Given the description of an element on the screen output the (x, y) to click on. 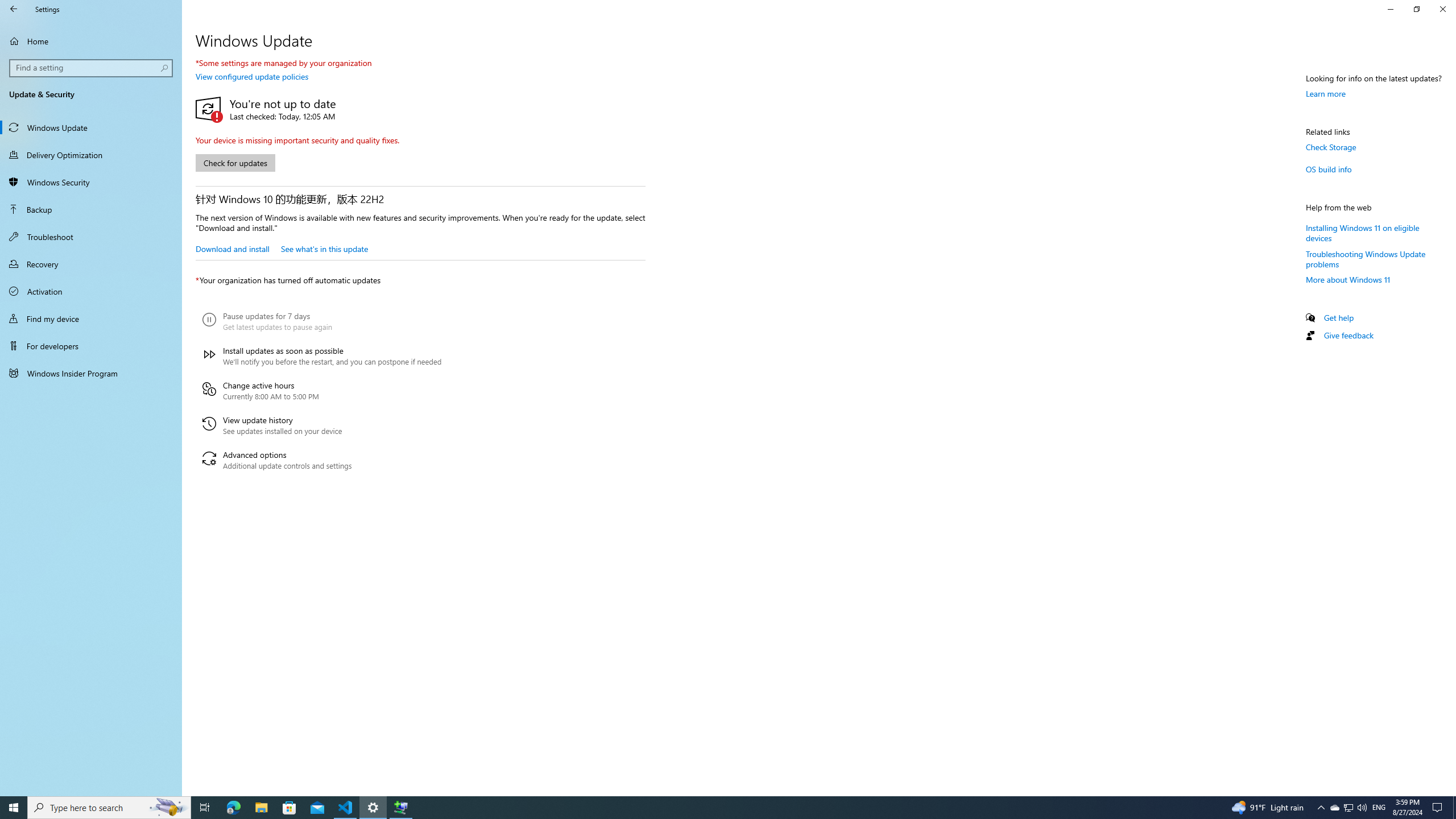
Pause updates for 7 days (321, 321)
Close Settings (1442, 9)
Change active hours (321, 390)
Installing Windows 11 on eligible devices (1362, 232)
Give feedback (1348, 335)
For developers (91, 345)
Check for updates (235, 162)
Learn more (1326, 93)
Install updates as soon as possible (321, 356)
